Given the description of an element on the screen output the (x, y) to click on. 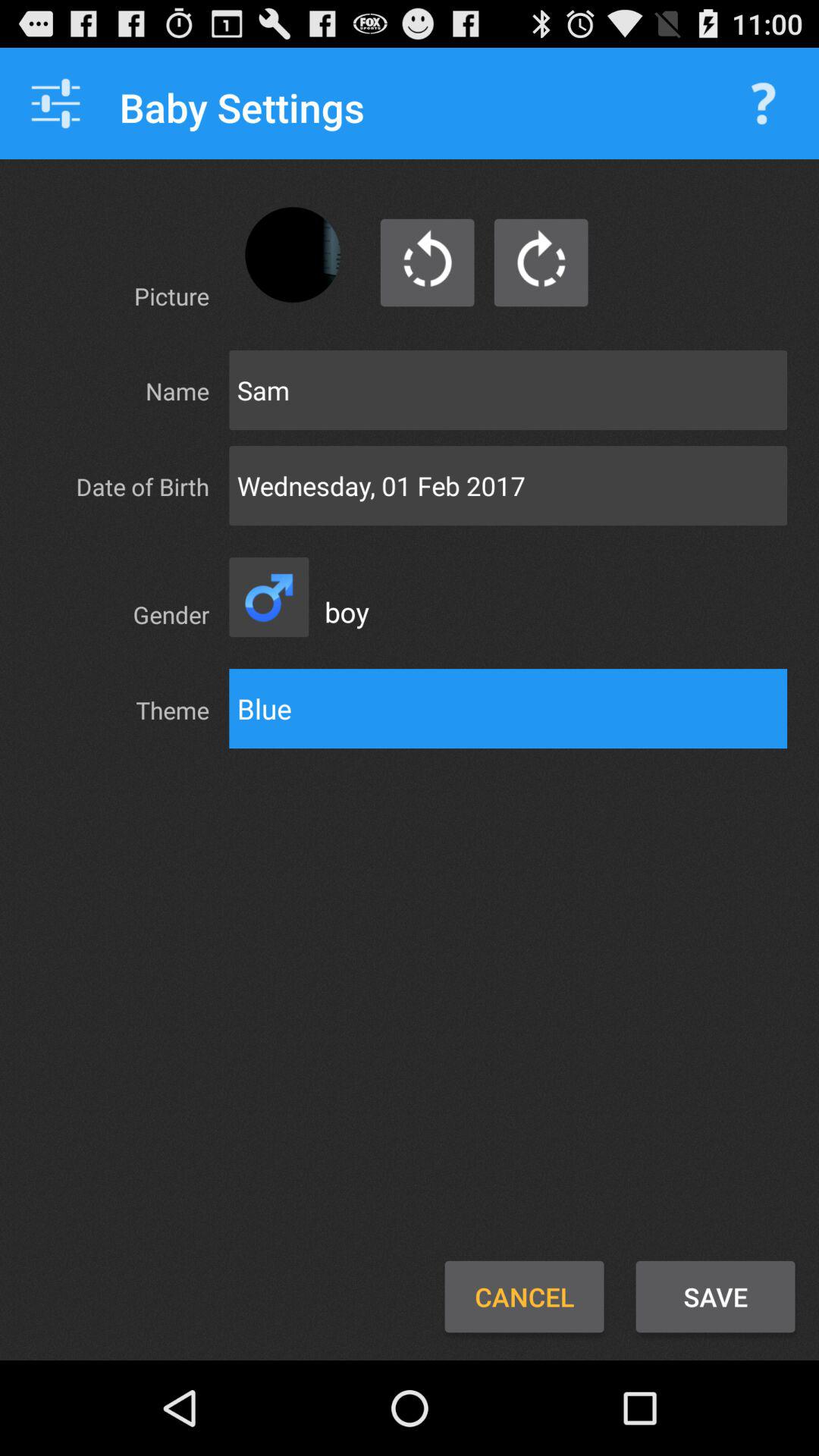
go to previous (427, 262)
